Given the description of an element on the screen output the (x, y) to click on. 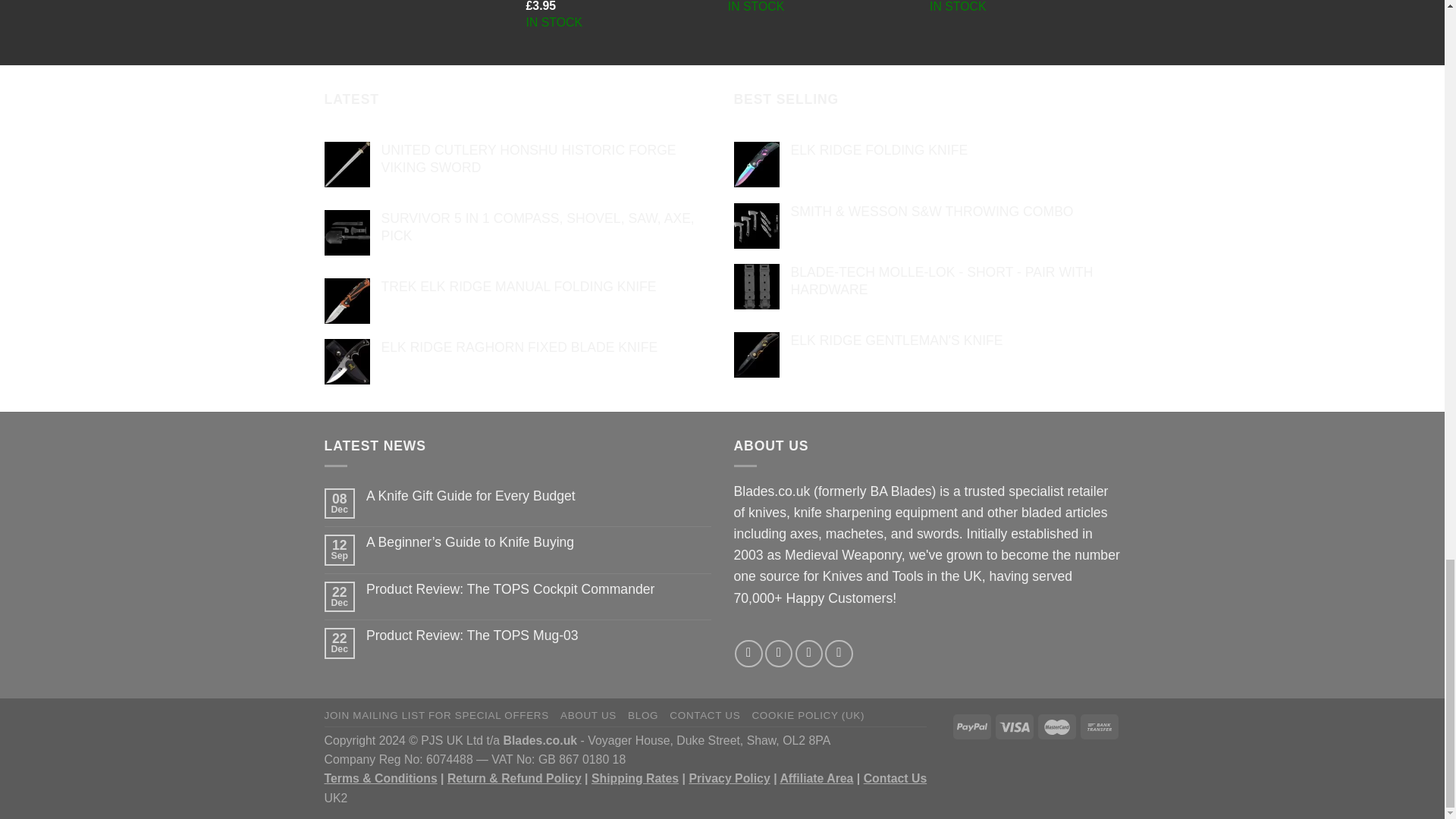
A Knife Gift Guide for Every Budget (538, 496)
